Given the description of an element on the screen output the (x, y) to click on. 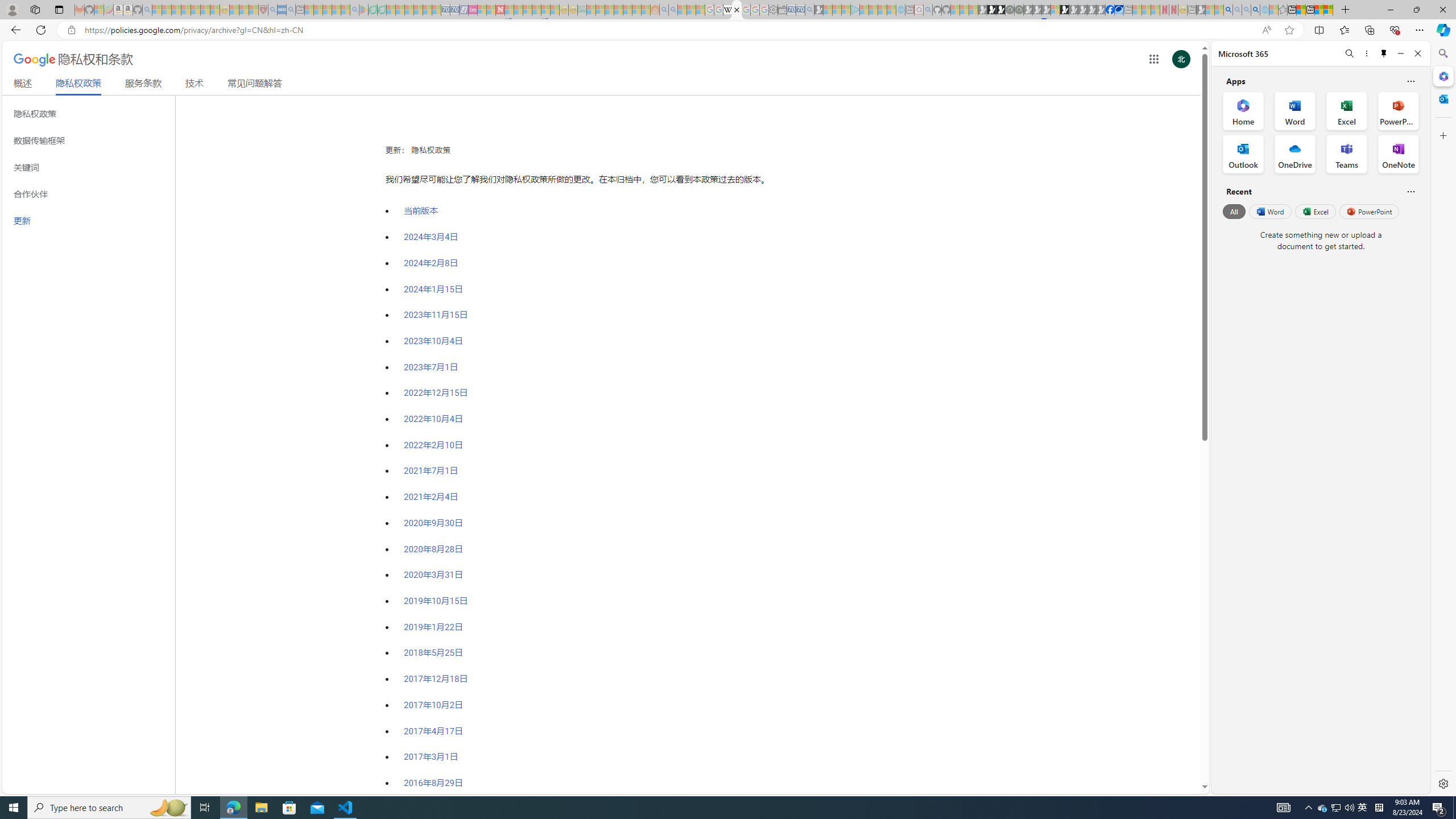
OneNote Office App (1398, 154)
Latest Politics News & Archive | Newsweek.com - Sleeping (499, 9)
